Given the description of an element on the screen output the (x, y) to click on. 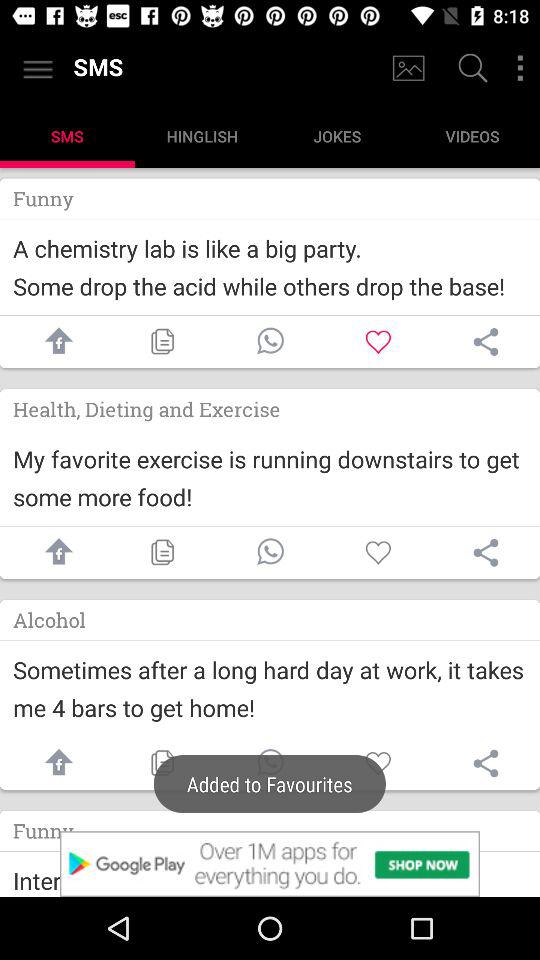
setting page (486, 763)
